Given the description of an element on the screen output the (x, y) to click on. 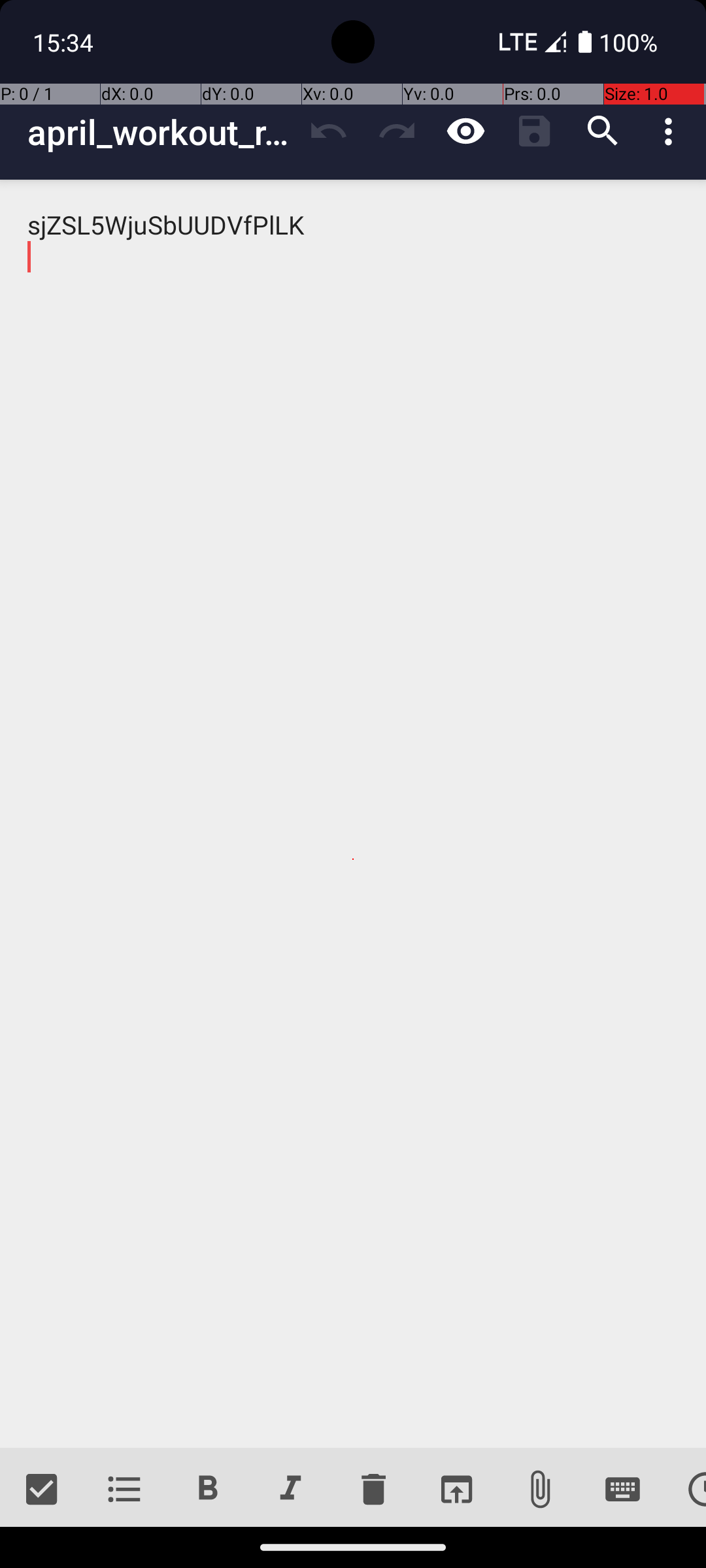
april_workout_routine_final Element type: android.widget.TextView (160, 131)
sjZSL5WjuSbUUDVfPlLK
 Element type: android.widget.EditText (353, 813)
